Given the description of an element on the screen output the (x, y) to click on. 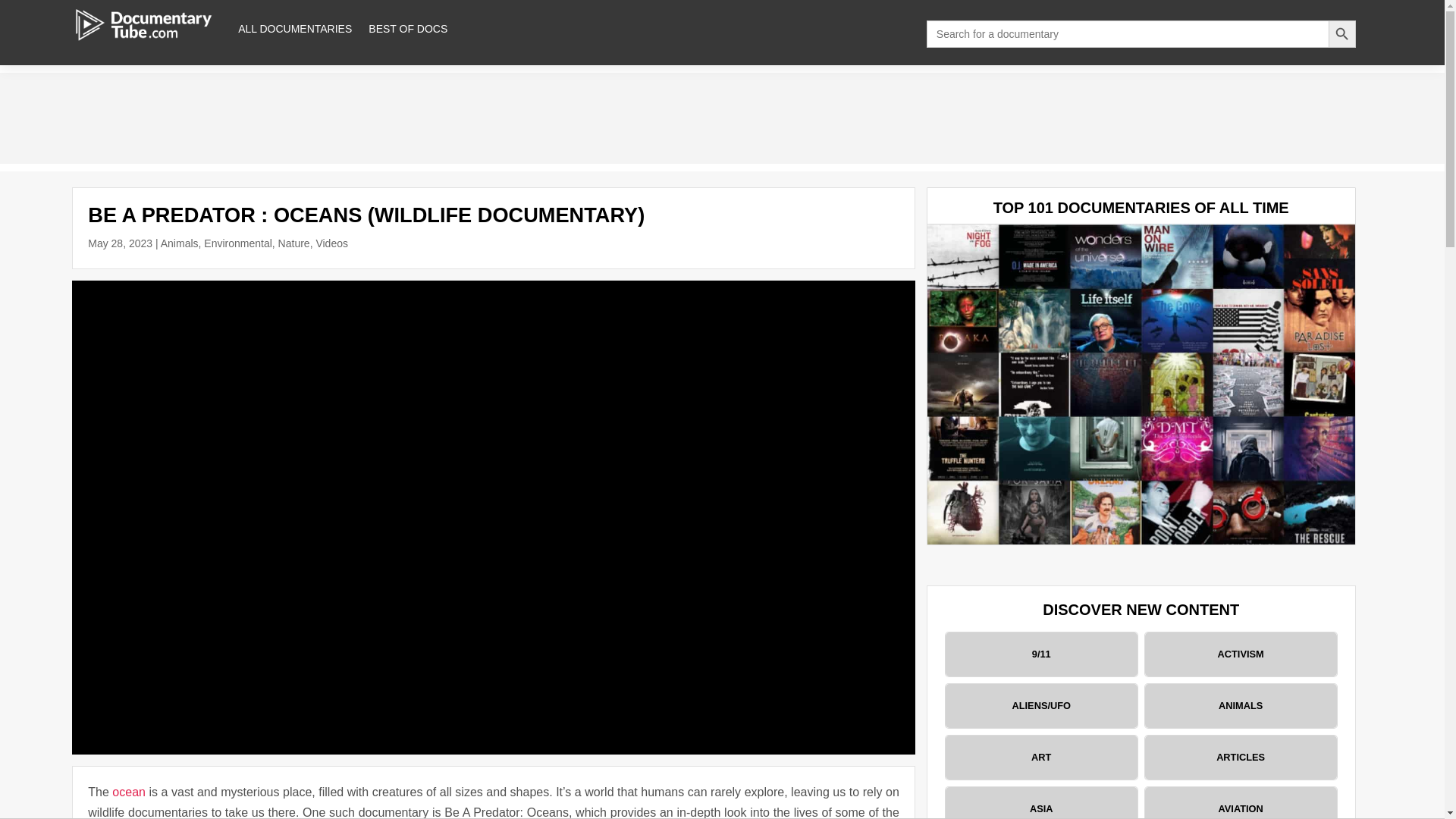
ALL DOCUMENTARIES (295, 28)
Nature (294, 243)
TOP 101 DOCUMENTARIES OF ALL TIME (1140, 207)
Videos (331, 243)
ocean (128, 791)
Animals (179, 243)
BEST OF DOCS (407, 28)
Environmental (237, 243)
Search Button (1341, 33)
